Given the description of an element on the screen output the (x, y) to click on. 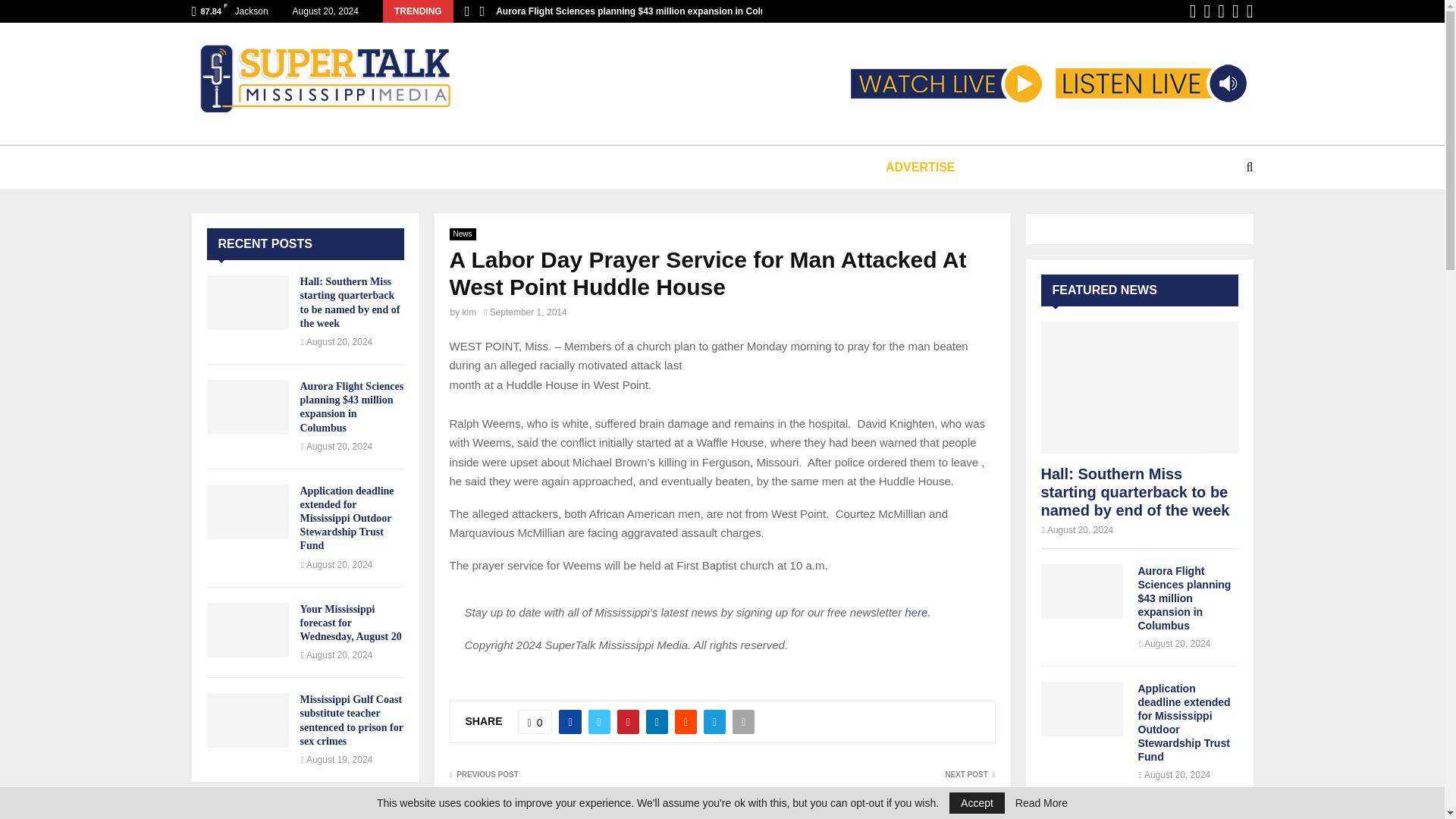
TUNE IN (255, 167)
Like (535, 721)
STATIONS (345, 167)
